Given the description of an element on the screen output the (x, y) to click on. 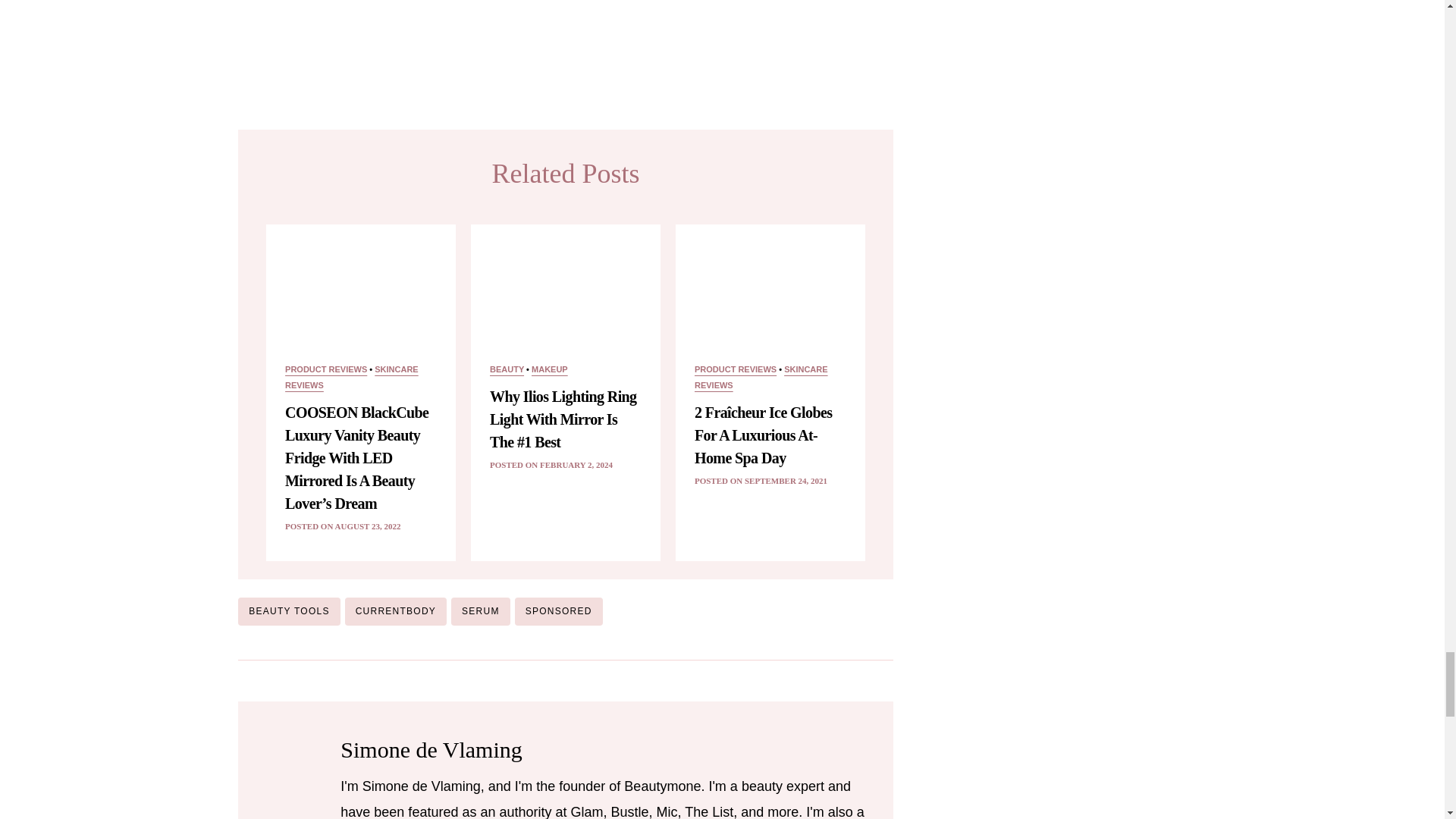
Best Beauty Tools (565, 41)
CurrentBody (395, 611)
Beauty Tools (288, 611)
Serum (481, 611)
Sponsored (558, 611)
Posts by Simone de Vlaming (430, 749)
